Given the description of an element on the screen output the (x, y) to click on. 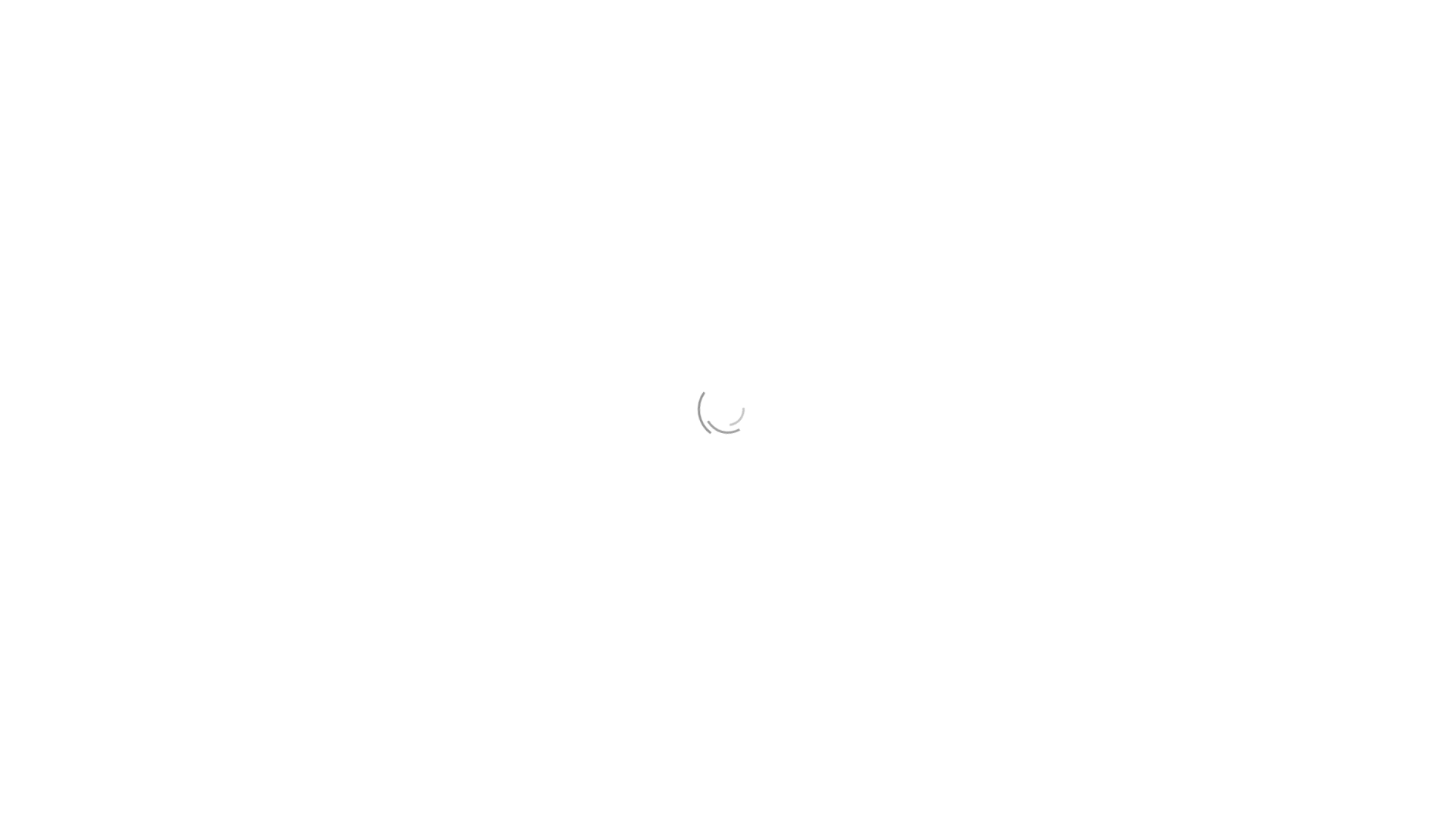
Google Maps Element type: text (328, 414)
contact Element type: text (1100, 30)
Search Element type: text (512, 194)
info@airtime.swiss Element type: text (342, 359)
airtime Element type: text (985, 30)
fr Element type: text (1144, 30)
+41 31 508 50 81 Element type: text (338, 387)
support Element type: text (1043, 30)
